Given the description of an element on the screen output the (x, y) to click on. 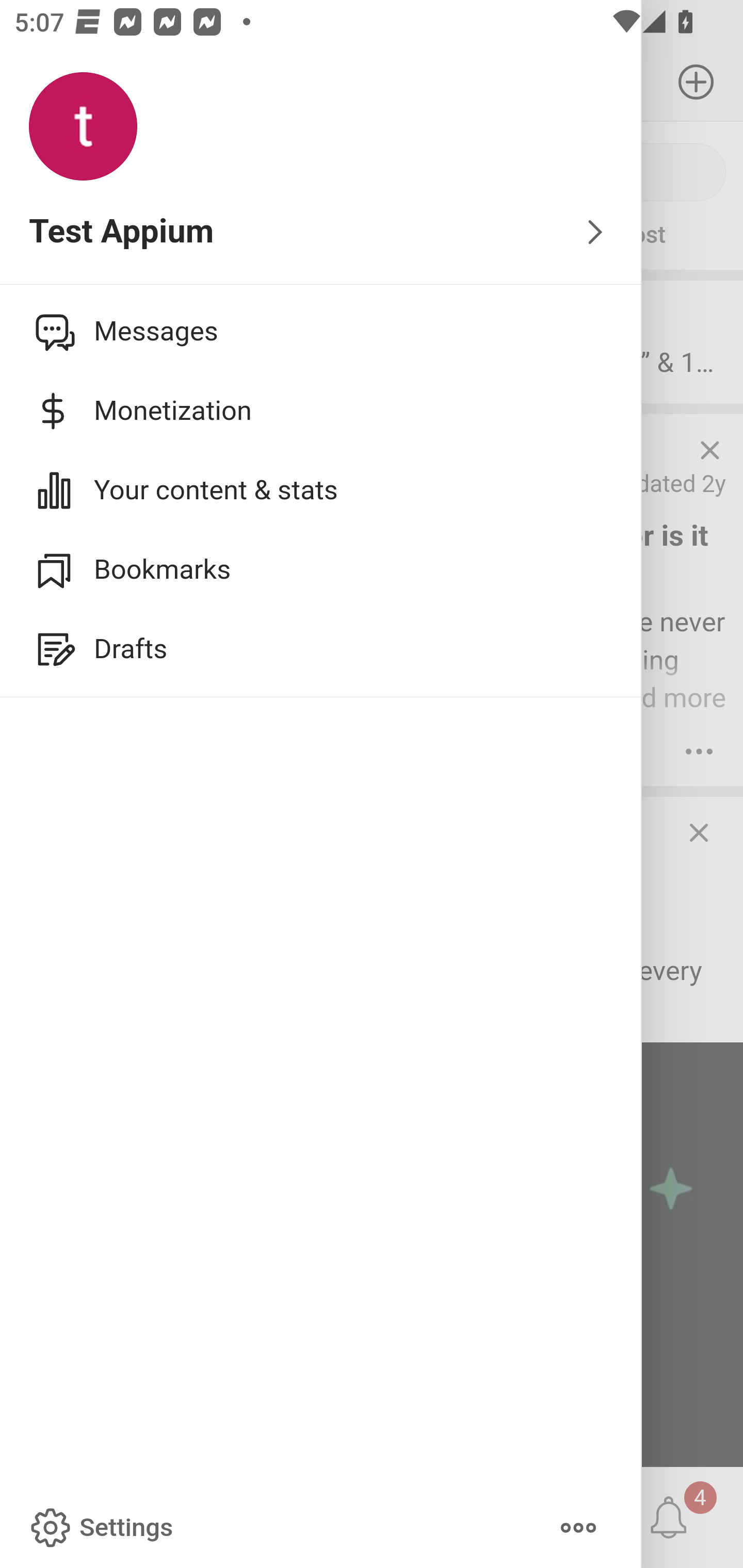
Profile photo for Test Appium (82, 126)
Test Appium (321, 232)
Ask (116, 234)
Messages (321, 330)
Monetization (321, 410)
Your content & stats (321, 489)
Bookmarks (321, 568)
Drafts (321, 648)
Settings (99, 1527)
More (578, 1527)
